Given the description of an element on the screen output the (x, y) to click on. 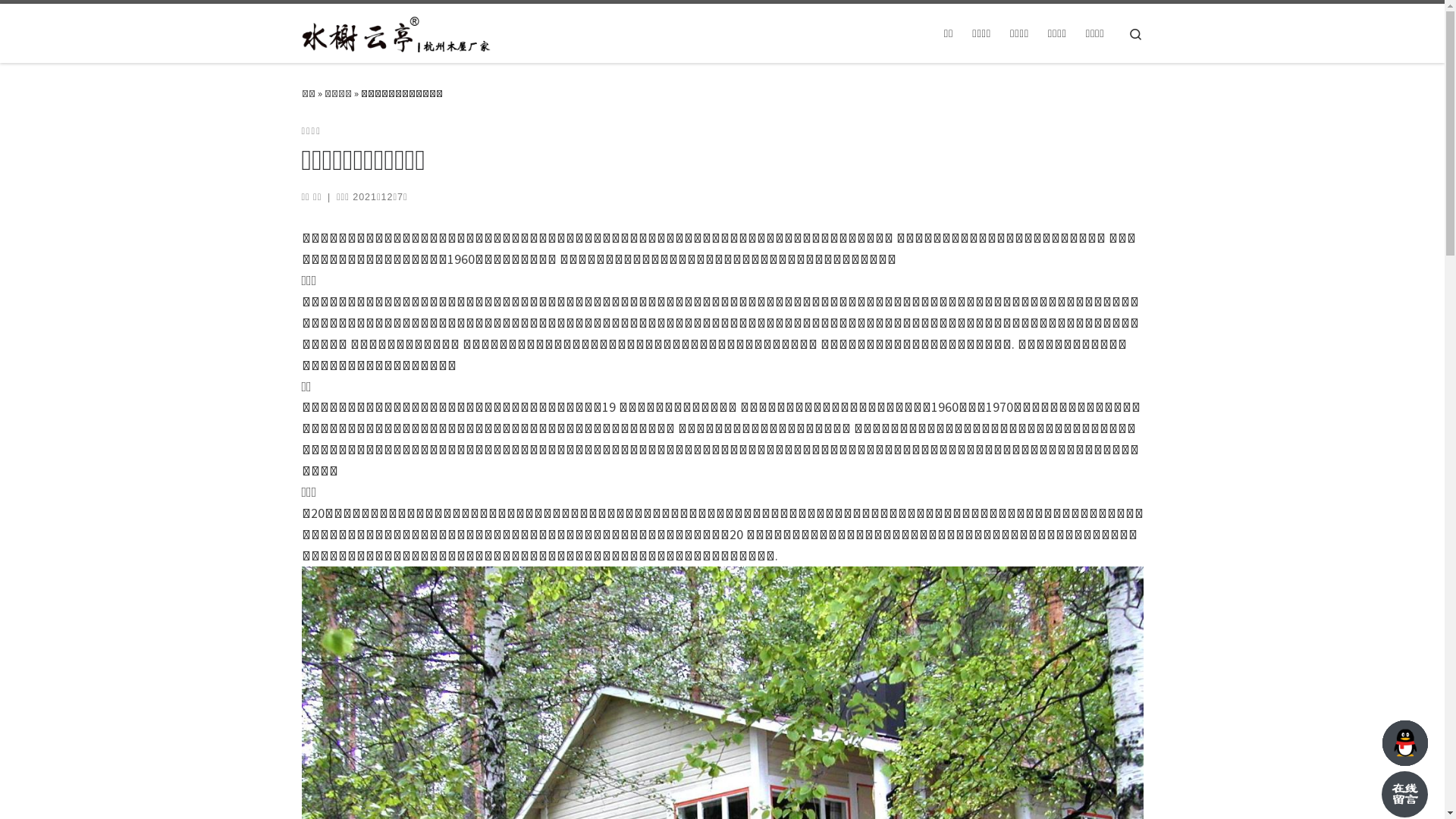
Search Element type: text (1135, 33)
Skip to content Element type: text (57, 21)
